Given the description of an element on the screen output the (x, y) to click on. 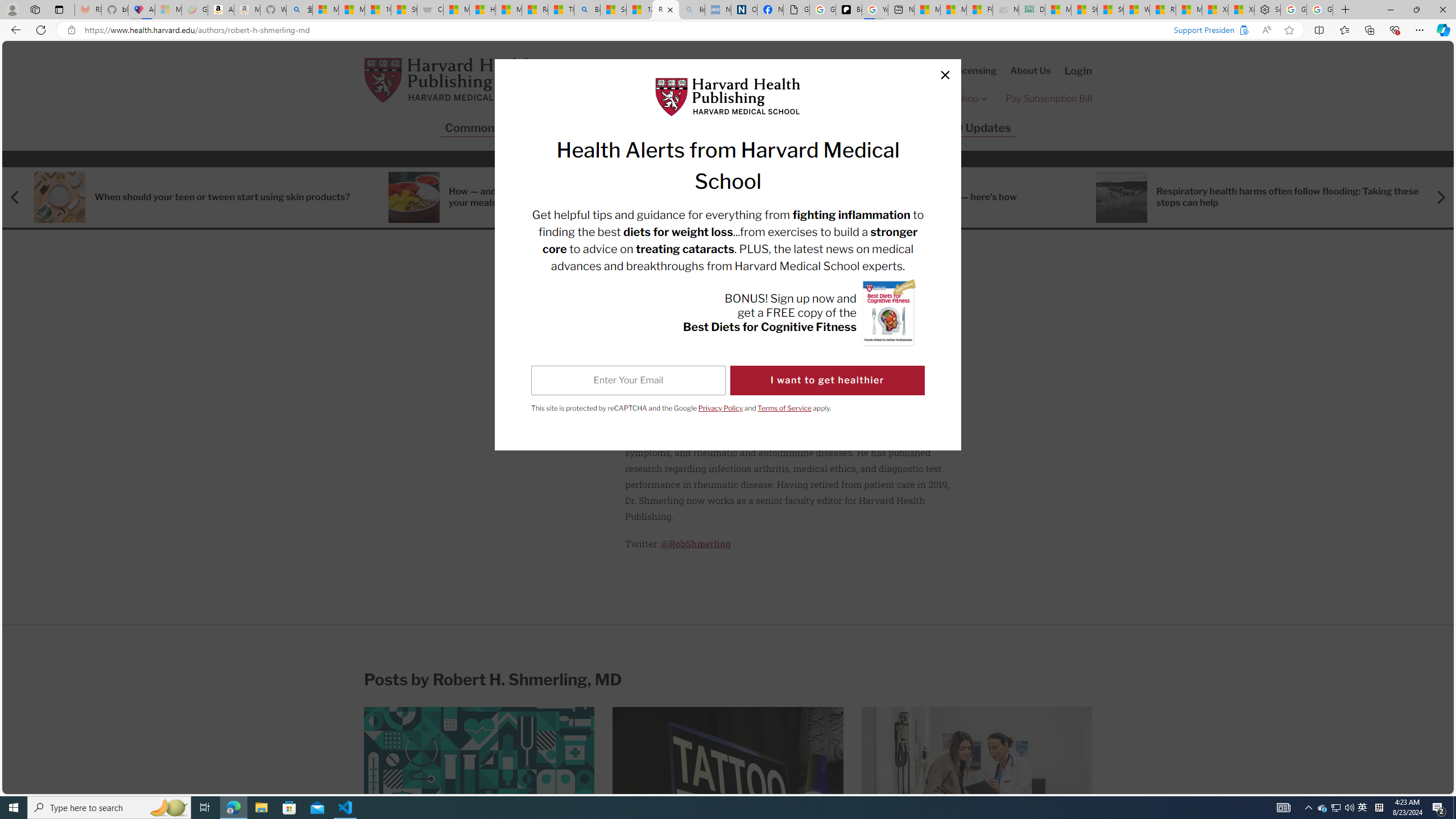
Bing (587, 9)
Harvard Health Publishing Logo (727, 96)
Support President & Fellows of Harvard College? (1235, 29)
